Given the description of an element on the screen output the (x, y) to click on. 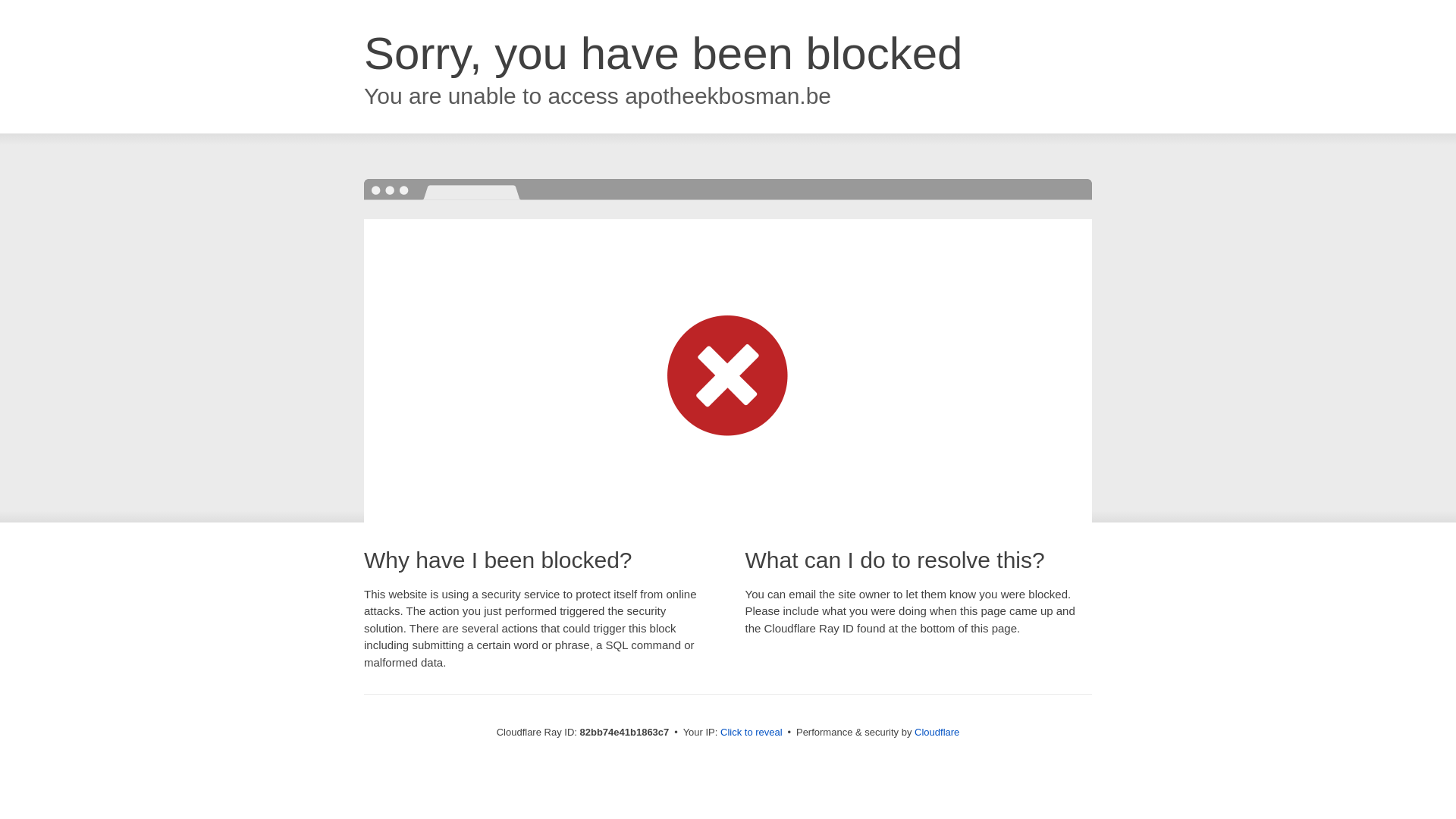
Click to reveal Element type: text (751, 732)
Cloudflare Element type: text (936, 731)
